Given the description of an element on the screen output the (x, y) to click on. 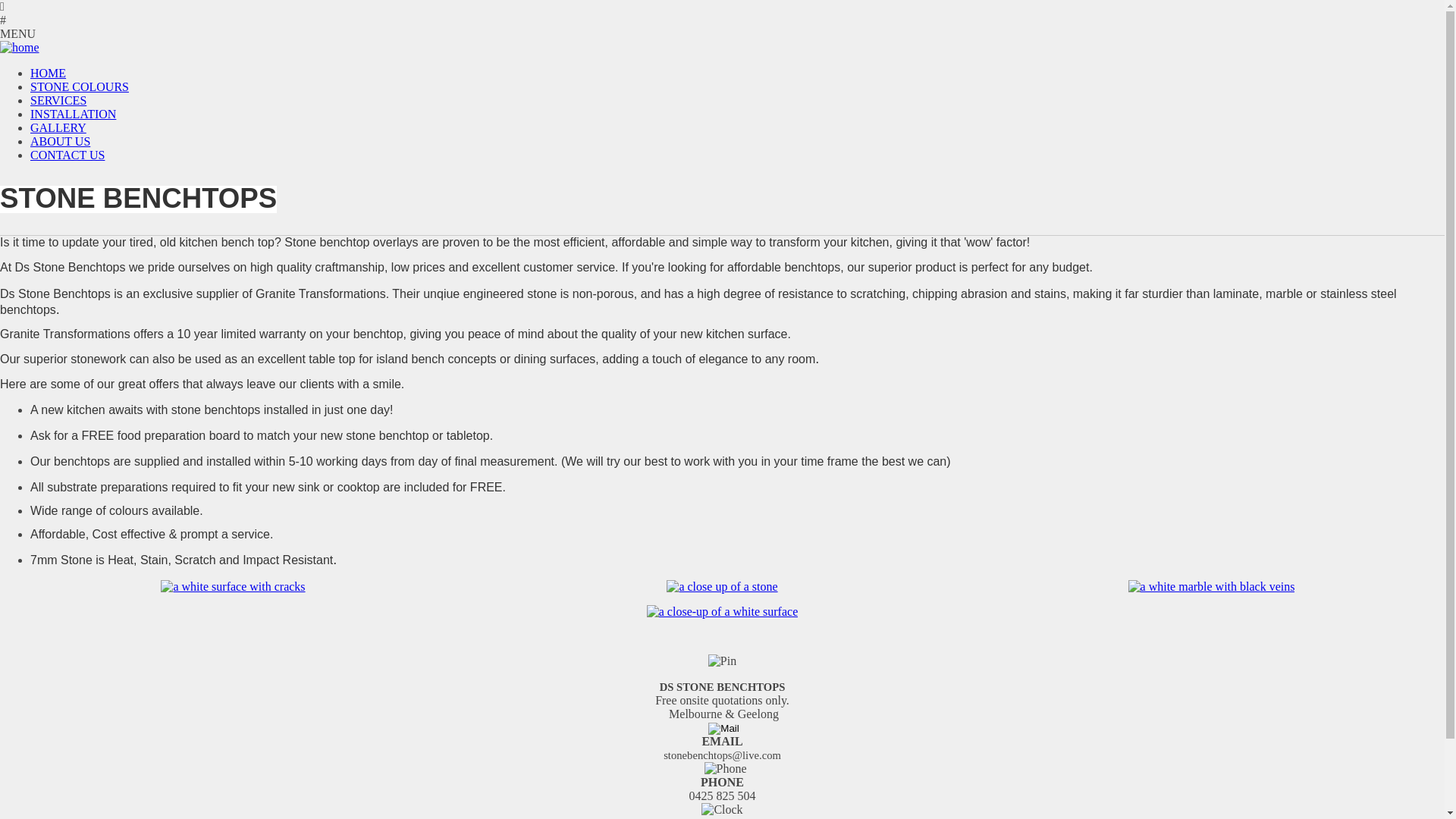
GALLERY Element type: text (58, 127)
MENU Element type: text (722, 33)
ABOUT US Element type: text (60, 140)
INSTALLATION Element type: text (73, 113)
HOME Element type: text (47, 72)
# Element type: text (722, 20)
CONTACT US Element type: text (67, 154)
STONE COLOURS Element type: text (79, 86)
SERVICES Element type: text (58, 100)
